Given the description of an element on the screen output the (x, y) to click on. 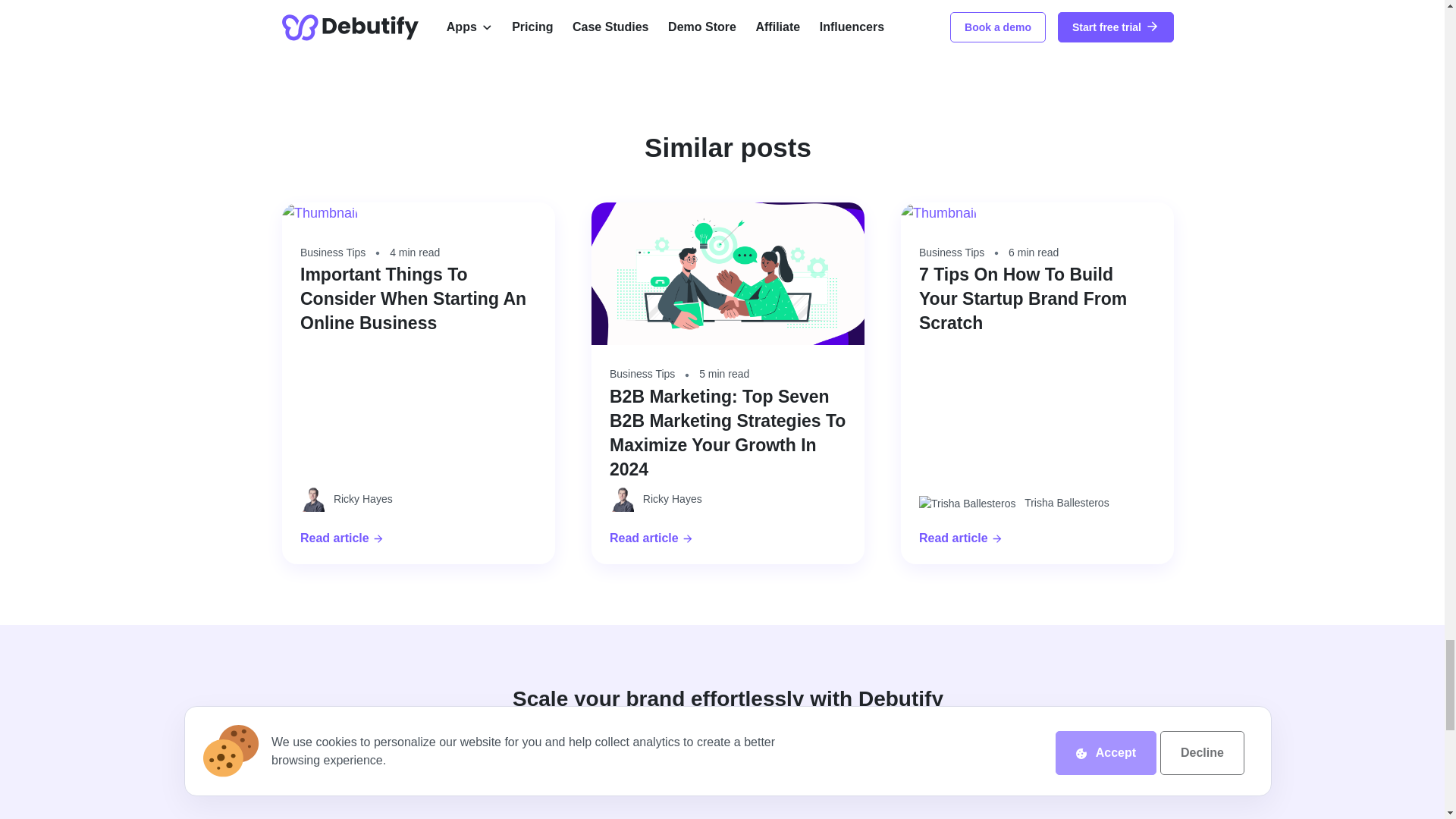
Ricky Hayes (418, 499)
Read article (418, 537)
